Given the description of an element on the screen output the (x, y) to click on. 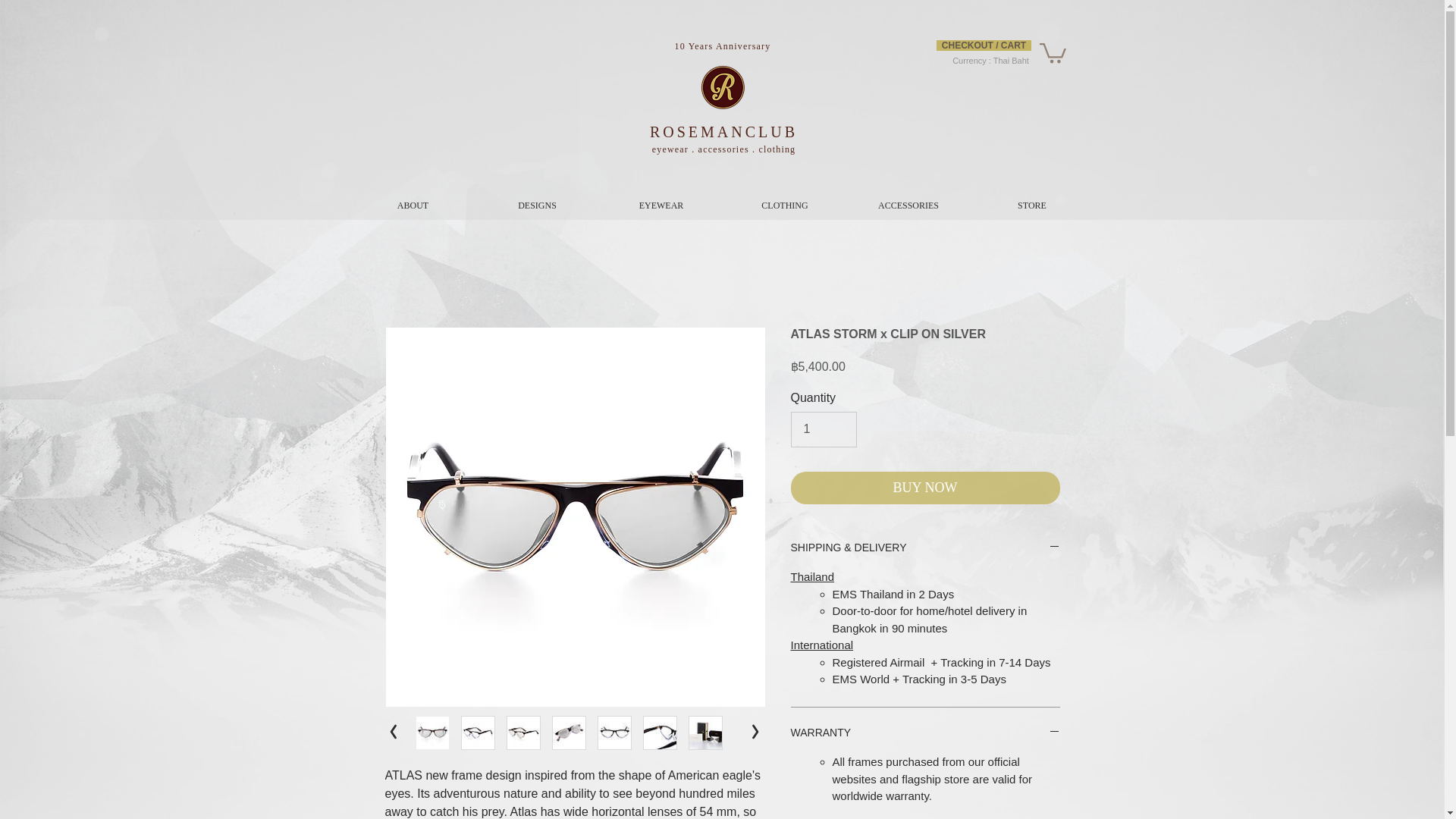
10 Years Anniversary (723, 45)
1 (823, 428)
ABOUT (412, 205)
eyewear . accessories . clothing (724, 149)
ROSEMANCLUB (723, 131)
EYEWEAR (660, 205)
Rosemanclub Logo color-transparent-01.png (722, 87)
